Given the description of an element on the screen output the (x, y) to click on. 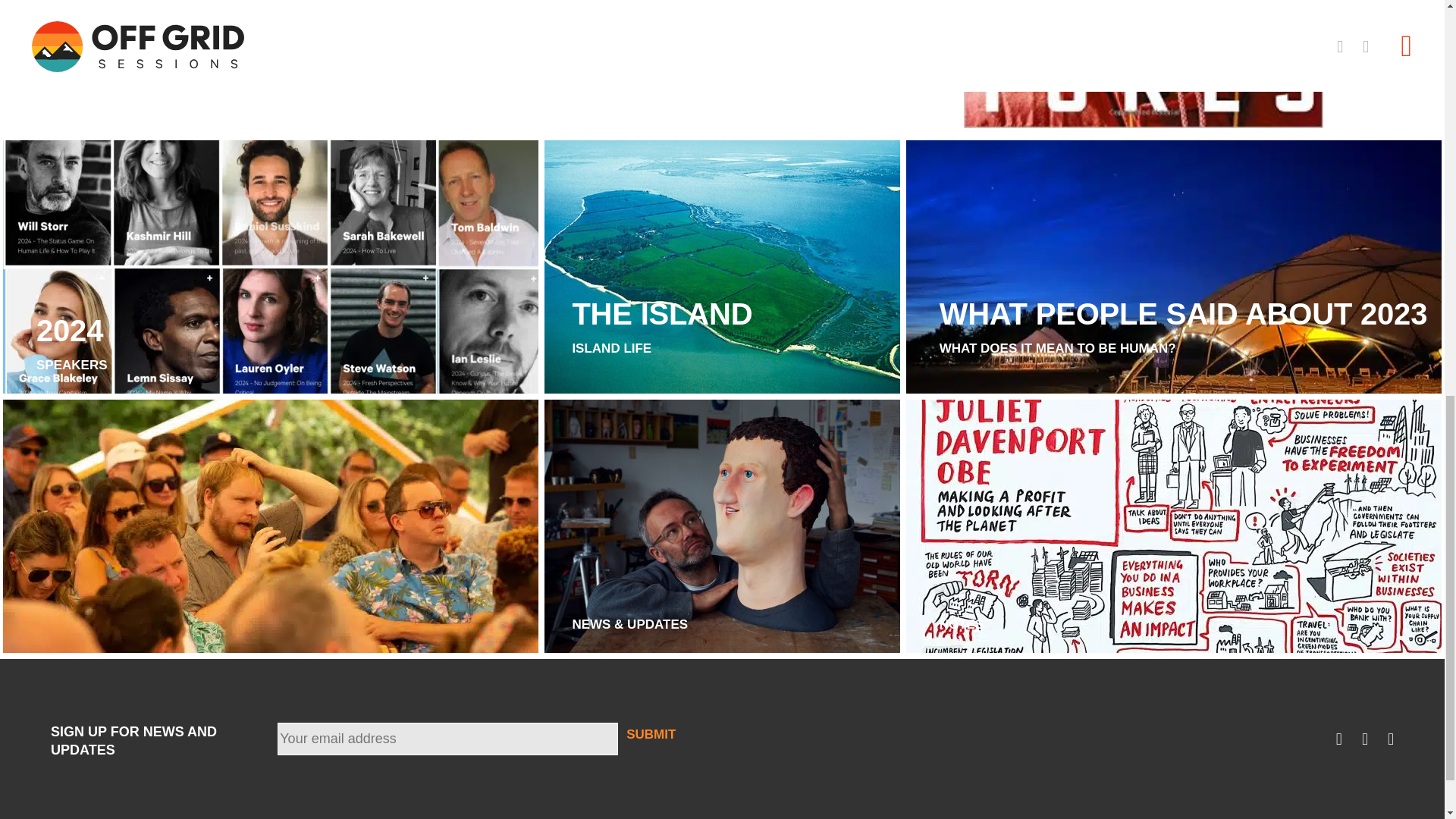
Submit (650, 734)
NOTES (721, 266)
Submit (961, 624)
SPEAKERS (71, 344)
